Given the description of an element on the screen output the (x, y) to click on. 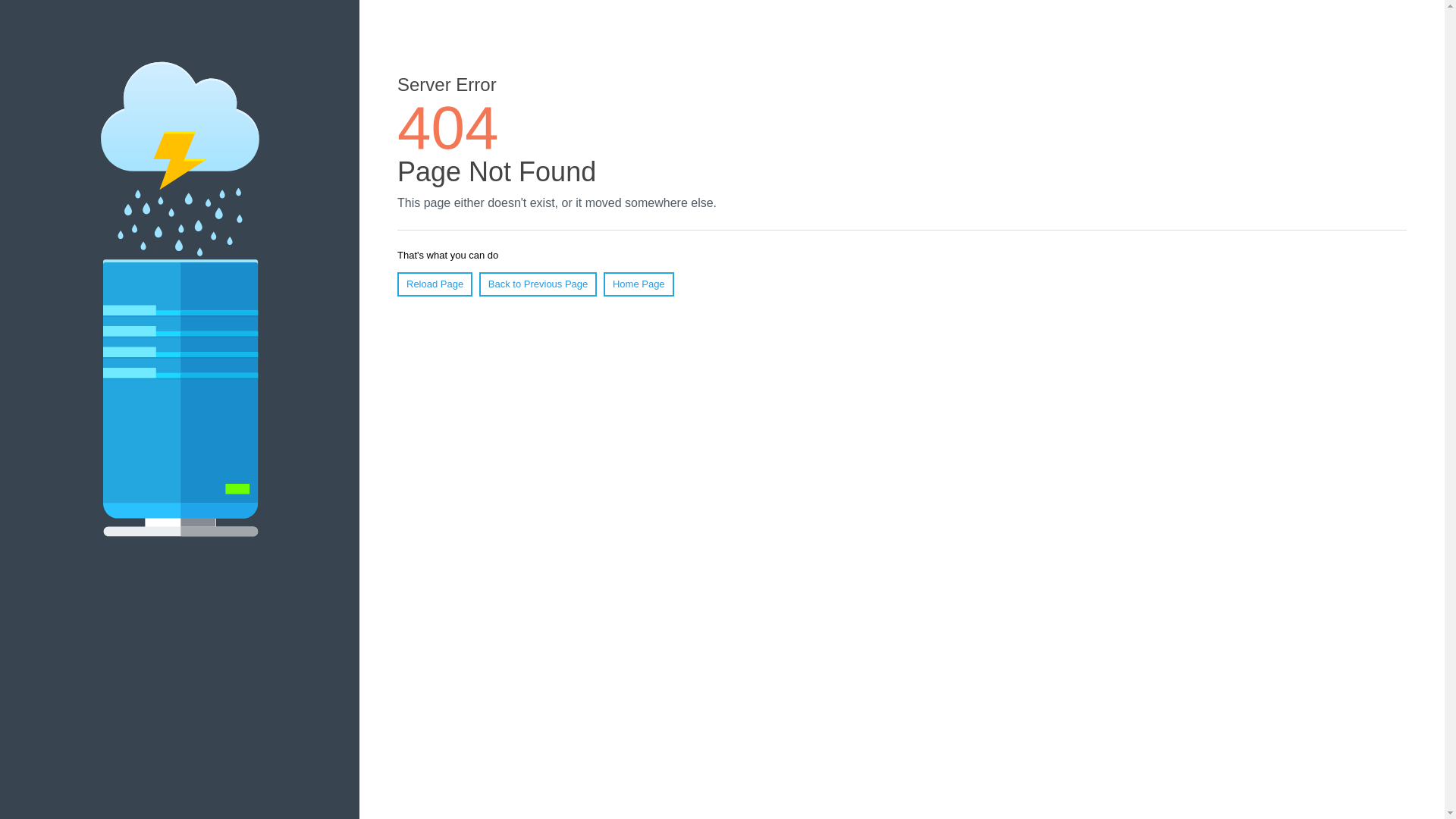
Reload Page Element type: text (434, 284)
Home Page Element type: text (638, 284)
Back to Previous Page Element type: text (538, 284)
